Given the description of an element on the screen output the (x, y) to click on. 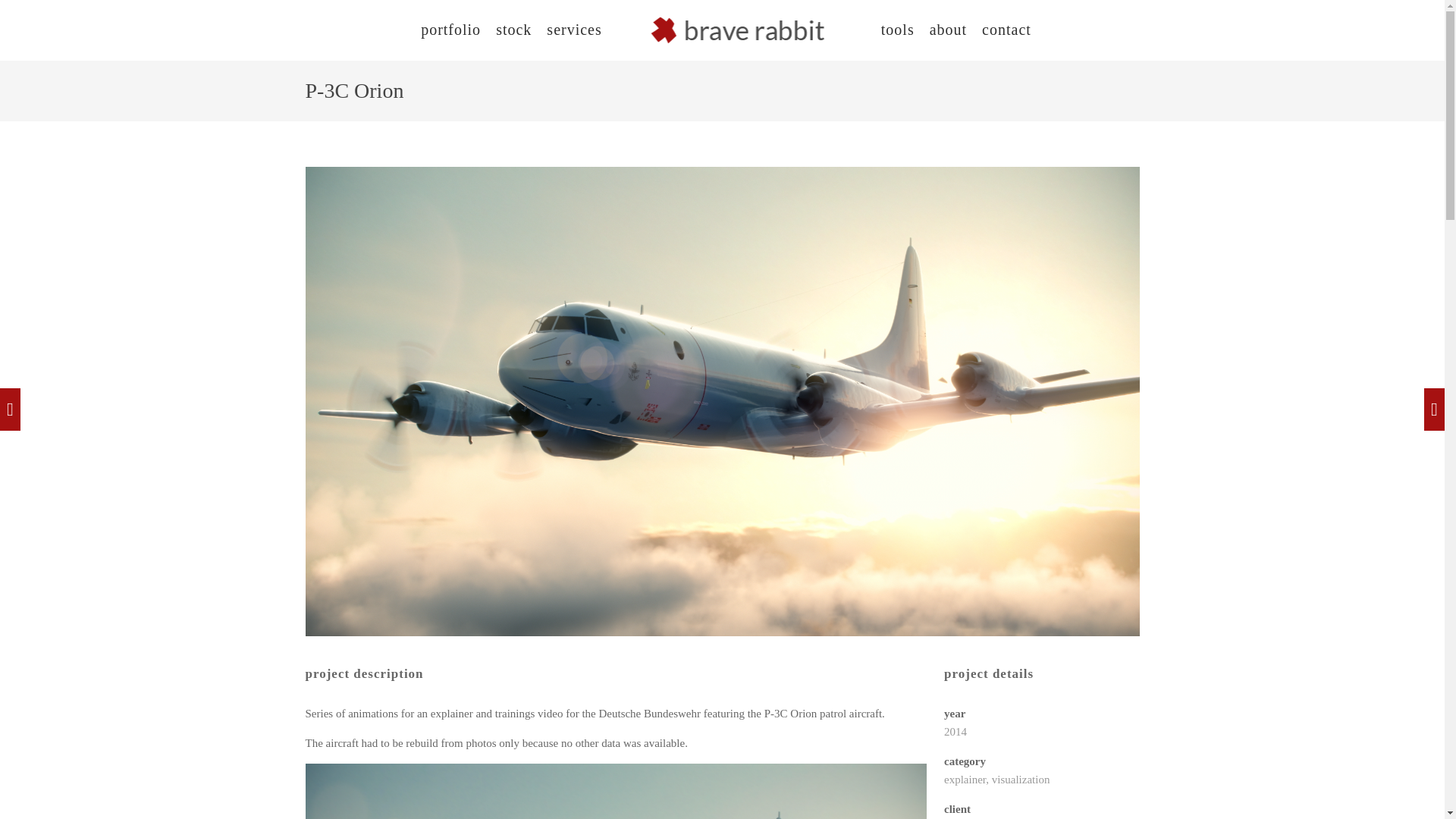
contact (1005, 29)
tools (897, 29)
portfolio (450, 29)
services (574, 29)
about (948, 29)
stock (513, 29)
